Given the description of an element on the screen output the (x, y) to click on. 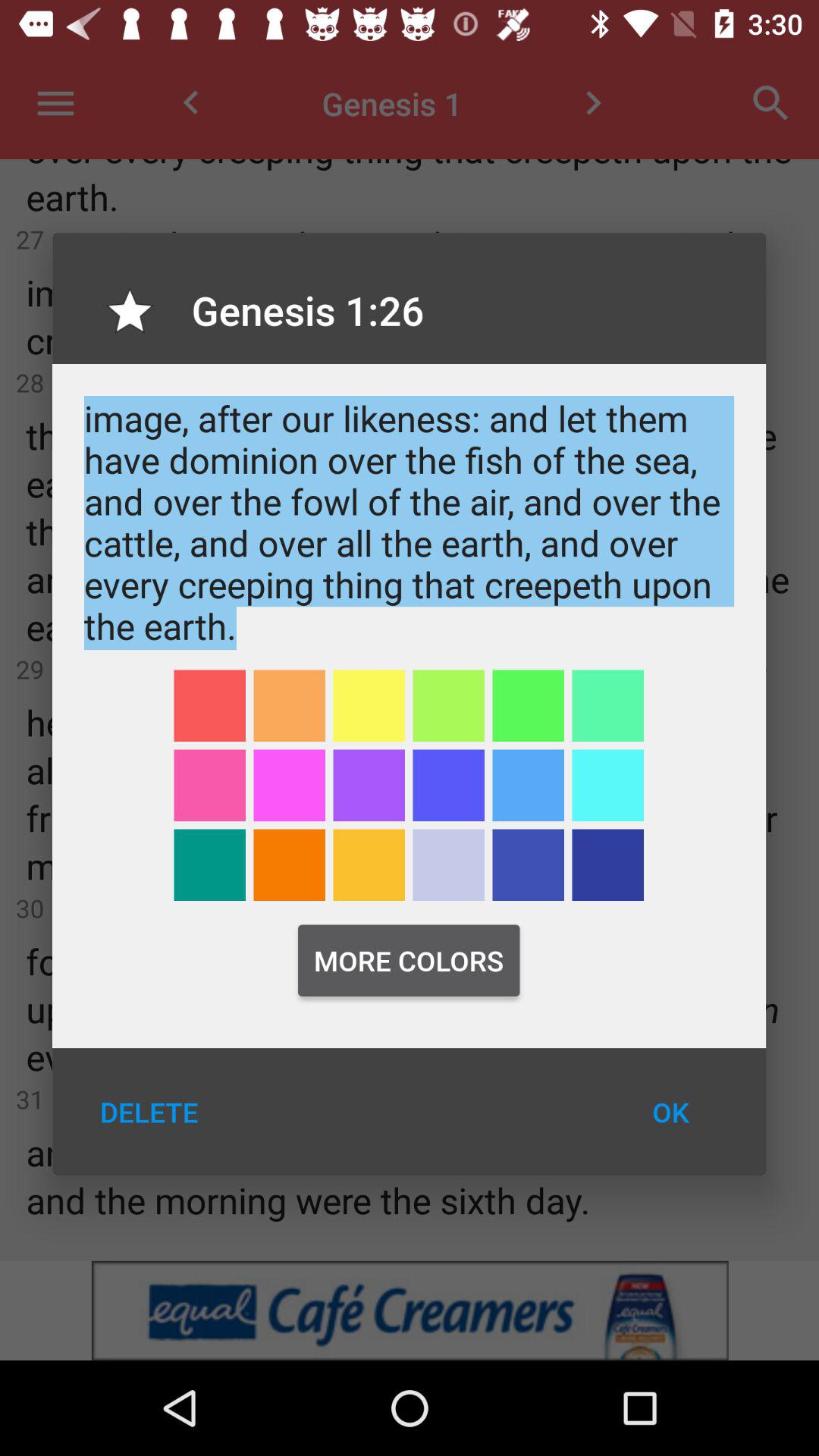
selects a color (209, 864)
